Given the description of an element on the screen output the (x, y) to click on. 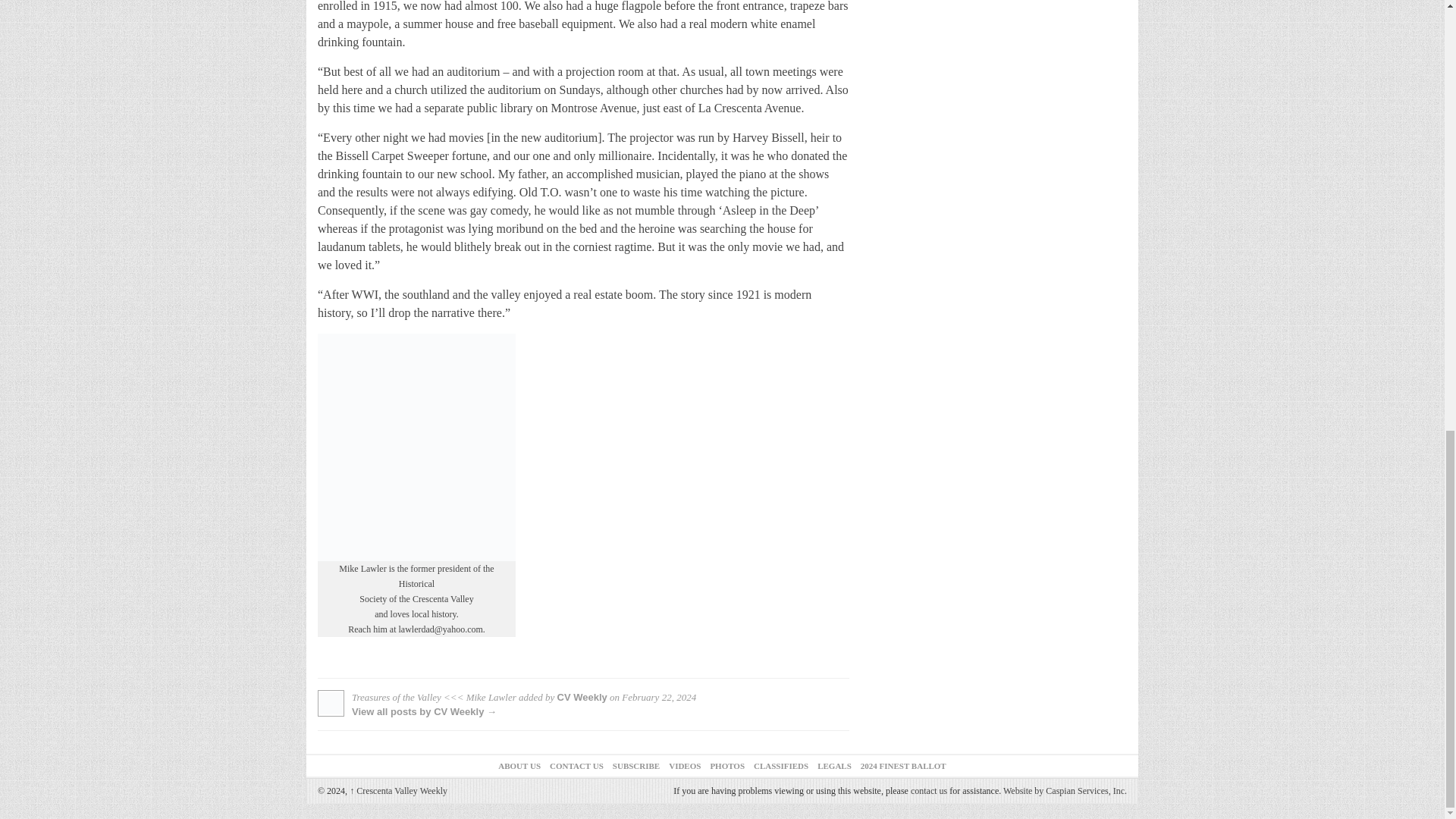
Crescenta Valley Weekly (397, 790)
